Given the description of an element on the screen output the (x, y) to click on. 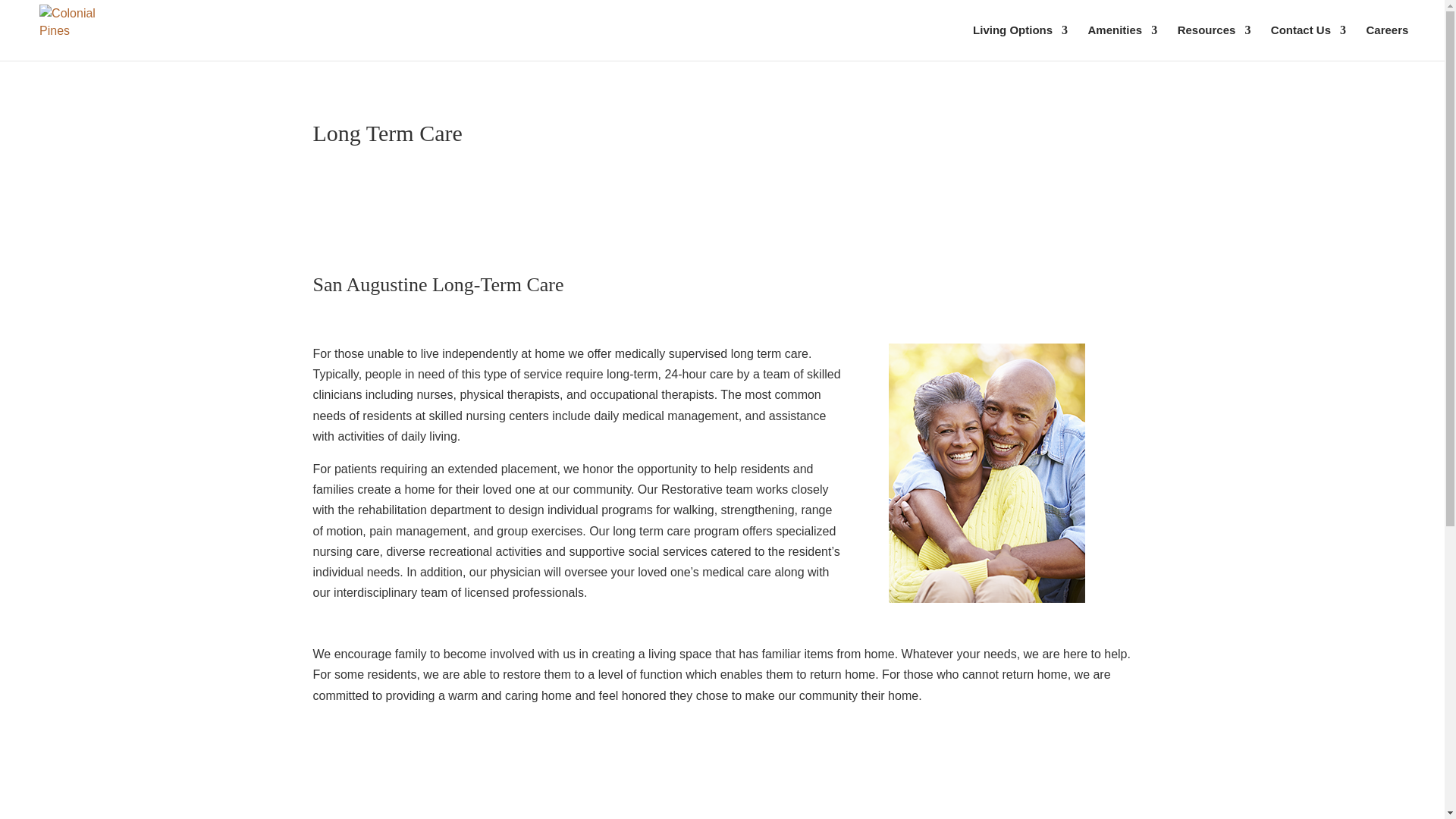
Careers (1386, 42)
Living Options (1019, 42)
Resources (1213, 42)
Contact Us (1308, 42)
Amenities (1122, 42)
